Given the description of an element on the screen output the (x, y) to click on. 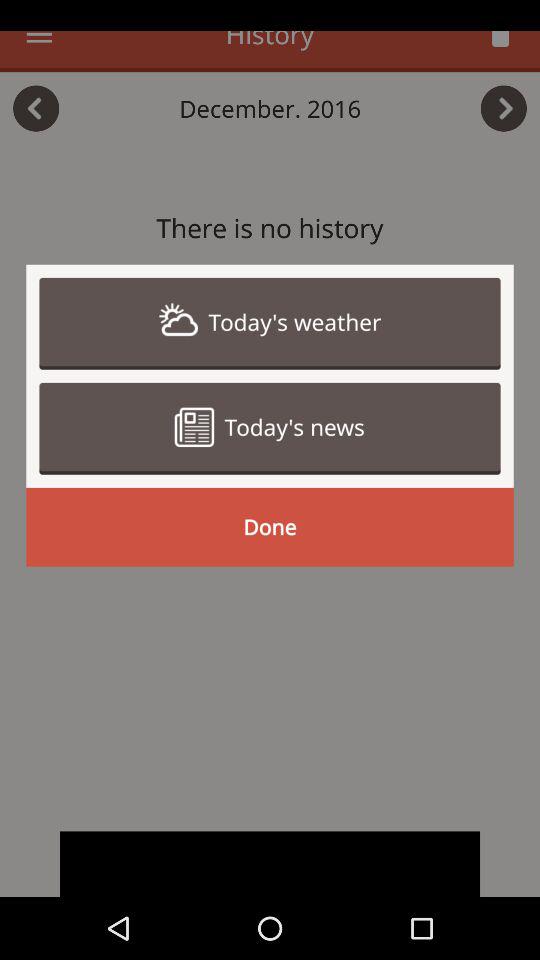
flip to done item (269, 526)
